Given the description of an element on the screen output the (x, y) to click on. 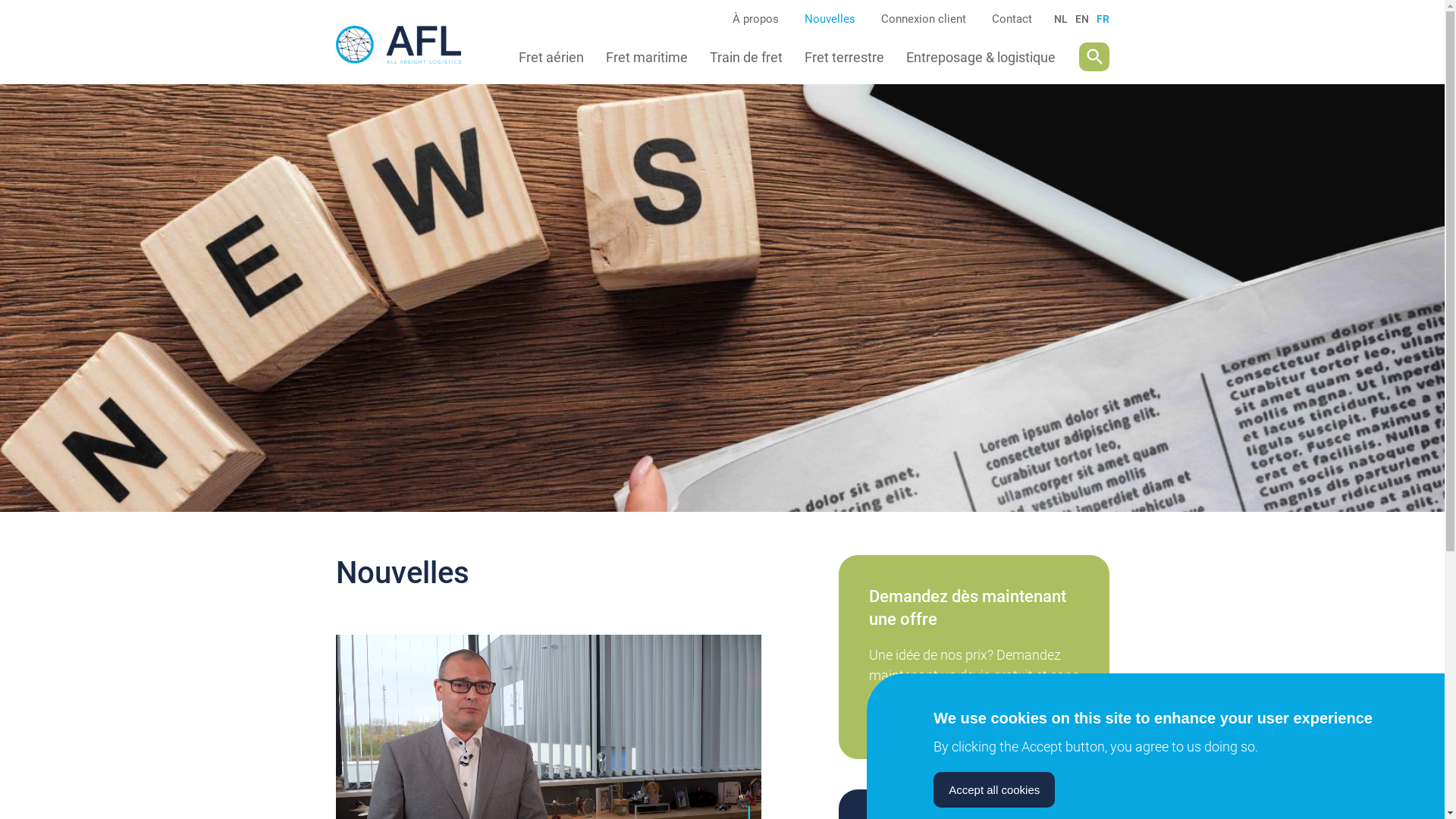
FR Element type: text (1102, 18)
Accept all cookies Element type: text (993, 789)
Accueil Element type: hover (407, 56)
Nouvelles Element type: text (828, 18)
Withdraw consent Element type: text (1114, 779)
Fret maritime Element type: text (646, 56)
Entreposage & logistique Element type: text (980, 56)
Connexion client Element type: text (923, 18)
offre Element type: text (973, 657)
Contact Element type: text (1011, 18)
Aller au contenu principal Element type: text (0, 0)
NL Element type: text (1060, 18)
Fret terrestre Element type: text (844, 56)
Train de fret Element type: text (745, 56)
EN Element type: text (1081, 18)
